Given the description of an element on the screen output the (x, y) to click on. 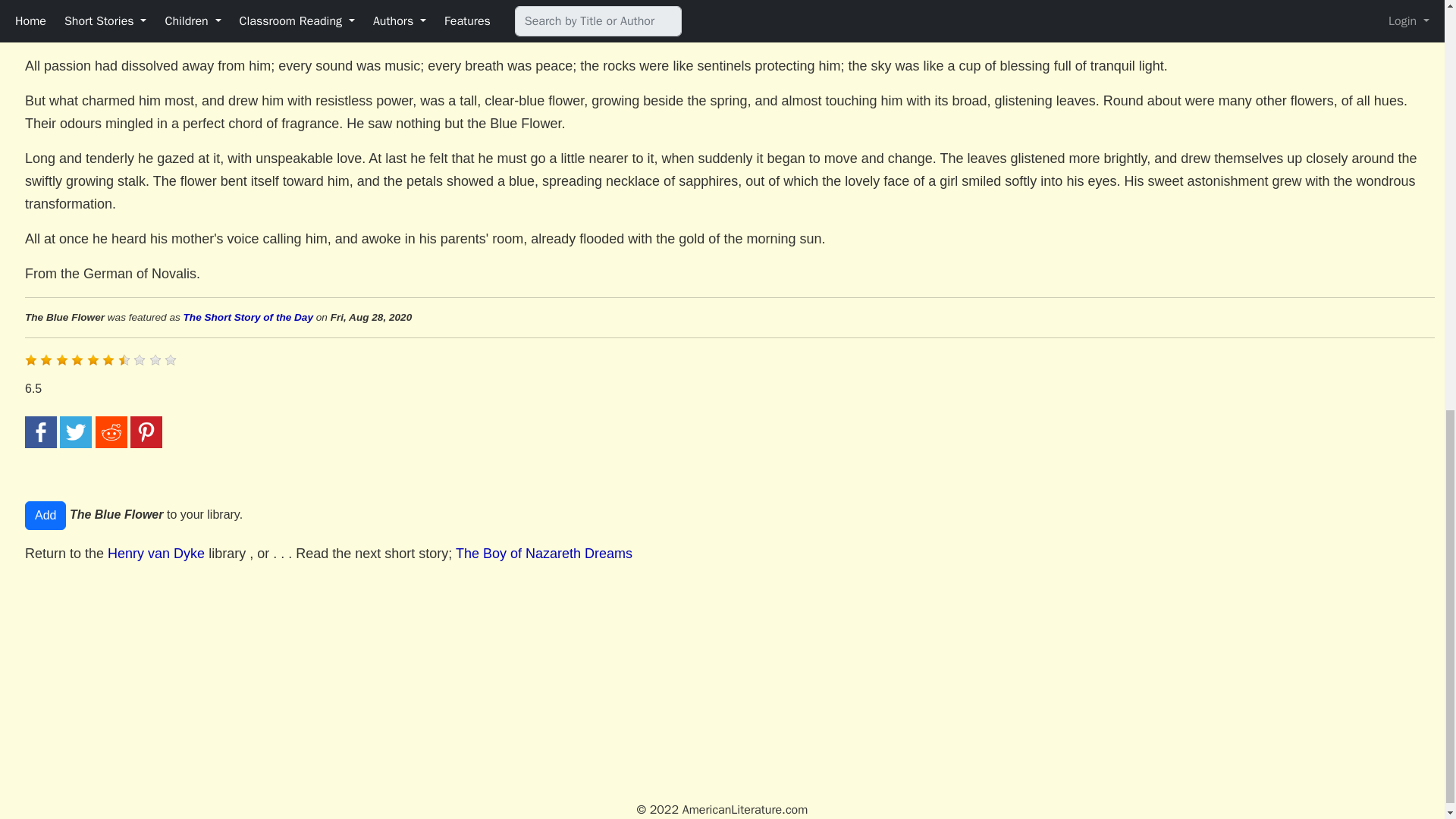
10 - Absolutely Brilliant!  (170, 359)
5 - Average - worth reading  (93, 359)
6 - Pretty Good - read it  (108, 359)
1 - Avoid  (30, 359)
9 - Loved it!  (155, 359)
4 - Okay  (76, 359)
3 - Nothing Special  (62, 359)
2 - Don't Read  (46, 359)
8 - Very Good - Highly Recommended  (139, 359)
7 - Very Good - recommended  (124, 359)
